Given the description of an element on the screen output the (x, y) to click on. 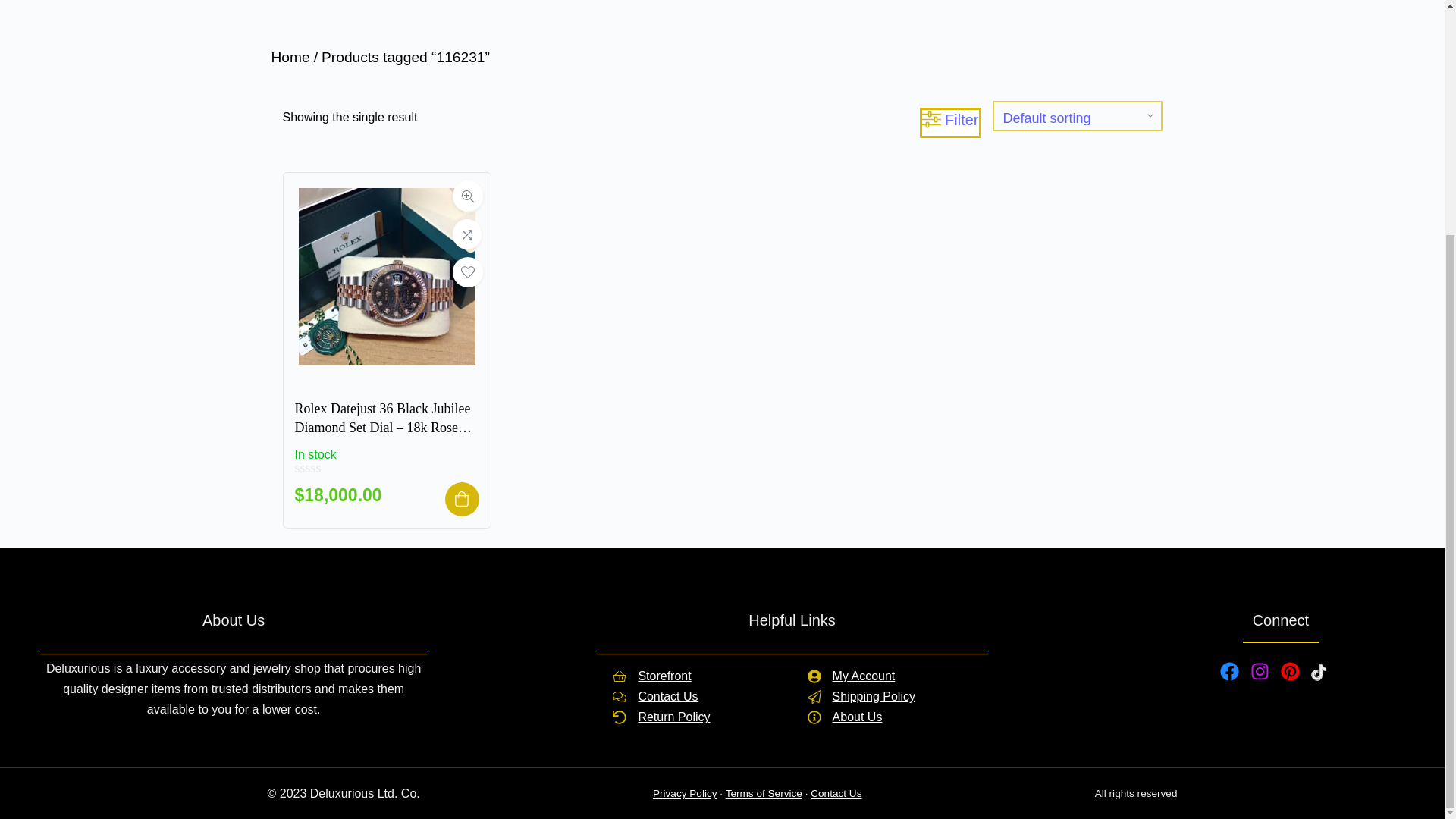
My Account (861, 675)
About Us (861, 716)
Contact (694, 696)
Storefront (694, 675)
Shipping Policy (861, 696)
Return Policy (694, 716)
